Given the description of an element on the screen output the (x, y) to click on. 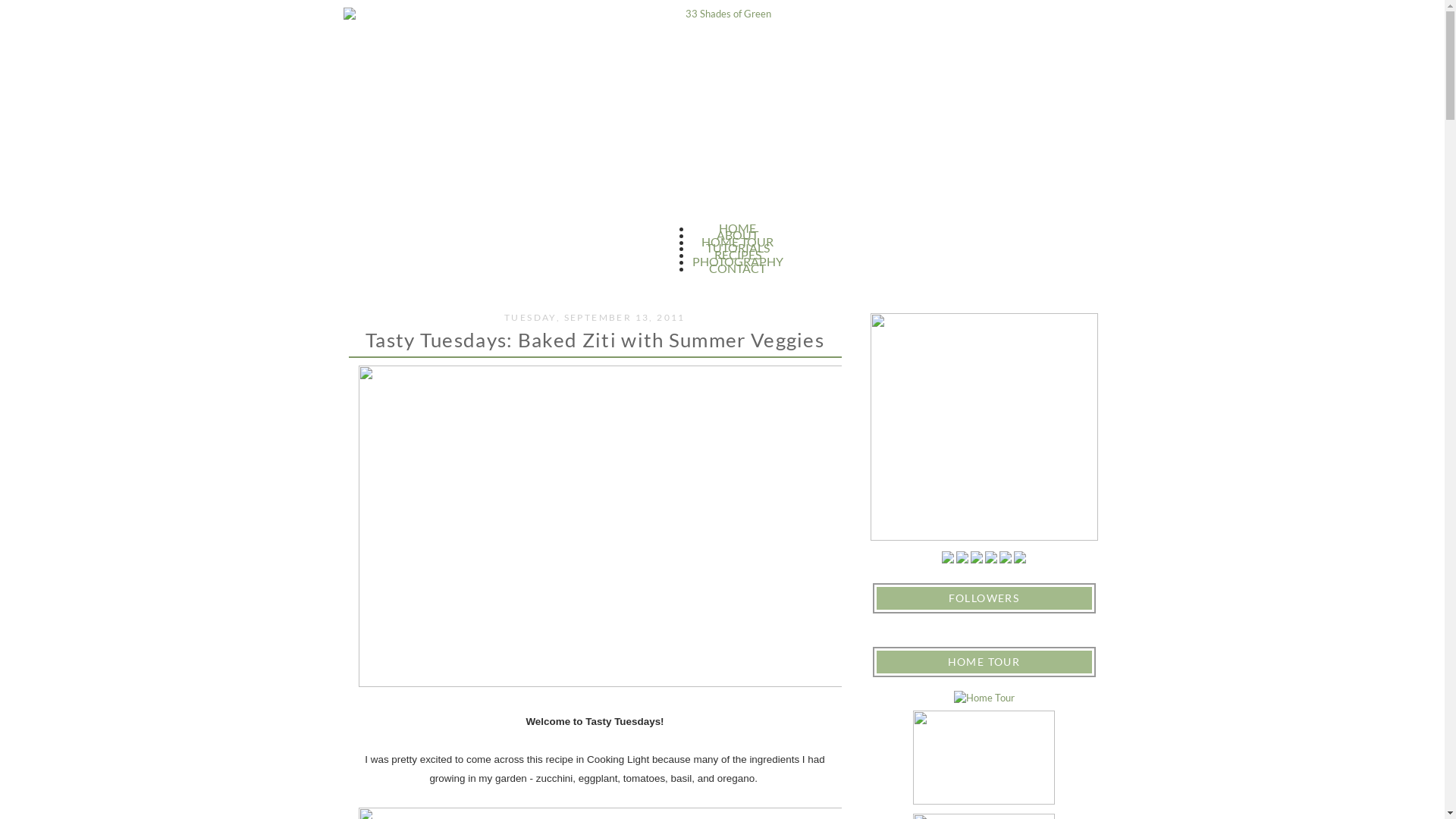
ABOUT Element type: text (737, 234)
HOME TOUR Element type: text (737, 241)
HOME Element type: text (737, 227)
CONTACT Element type: text (737, 267)
PHOTOGRAPHY Element type: text (736, 261)
TUTORIALS Element type: text (736, 247)
RECIPES Element type: text (737, 254)
